Given the description of an element on the screen output the (x, y) to click on. 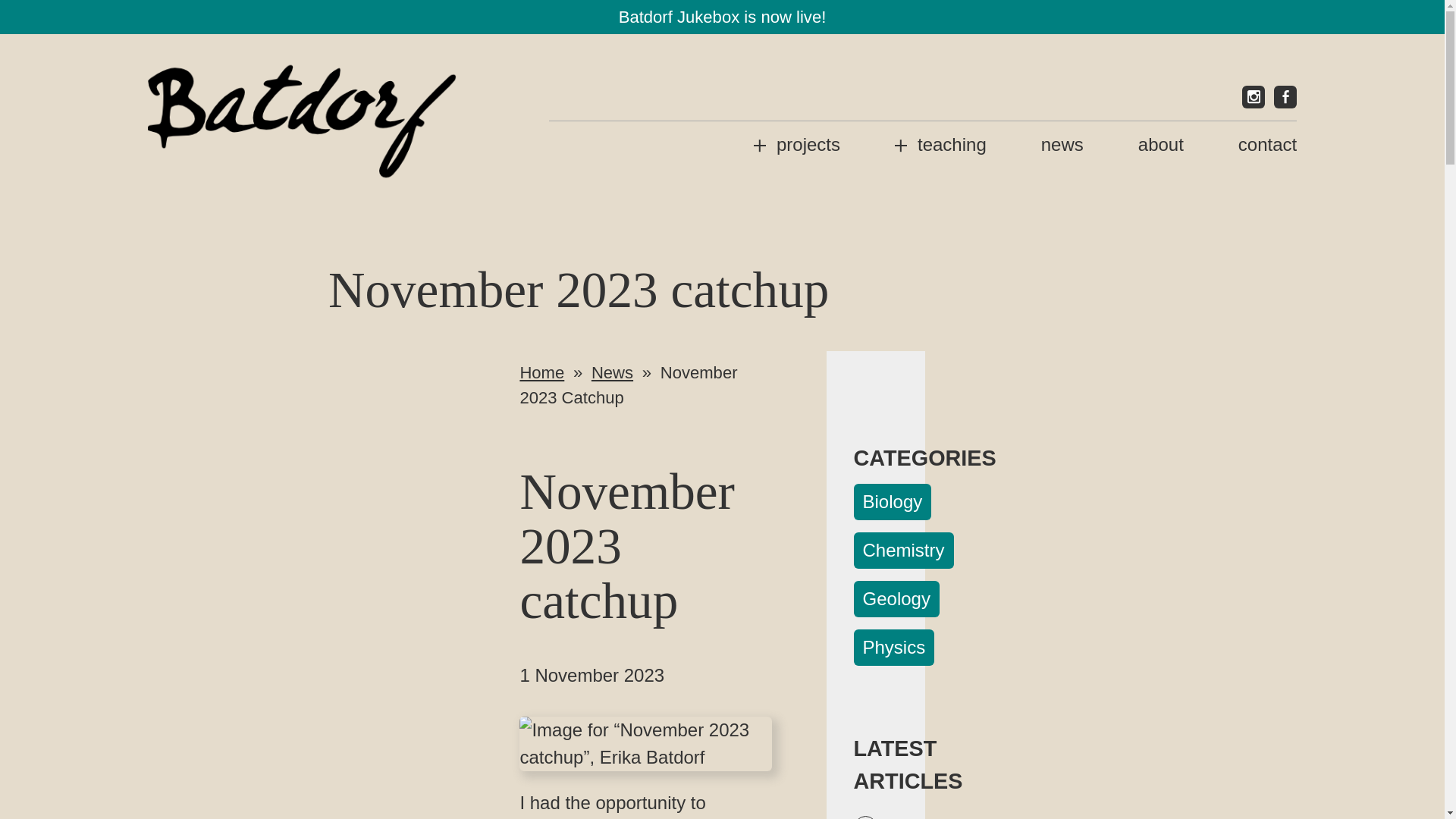
News (612, 372)
news (1062, 144)
contact (1268, 144)
about (1160, 144)
Geology (896, 598)
Home (541, 372)
Chemistry (903, 550)
Batdorf Jukebox is now live! (722, 16)
Biology (892, 502)
Physics (893, 647)
